Given the description of an element on the screen output the (x, y) to click on. 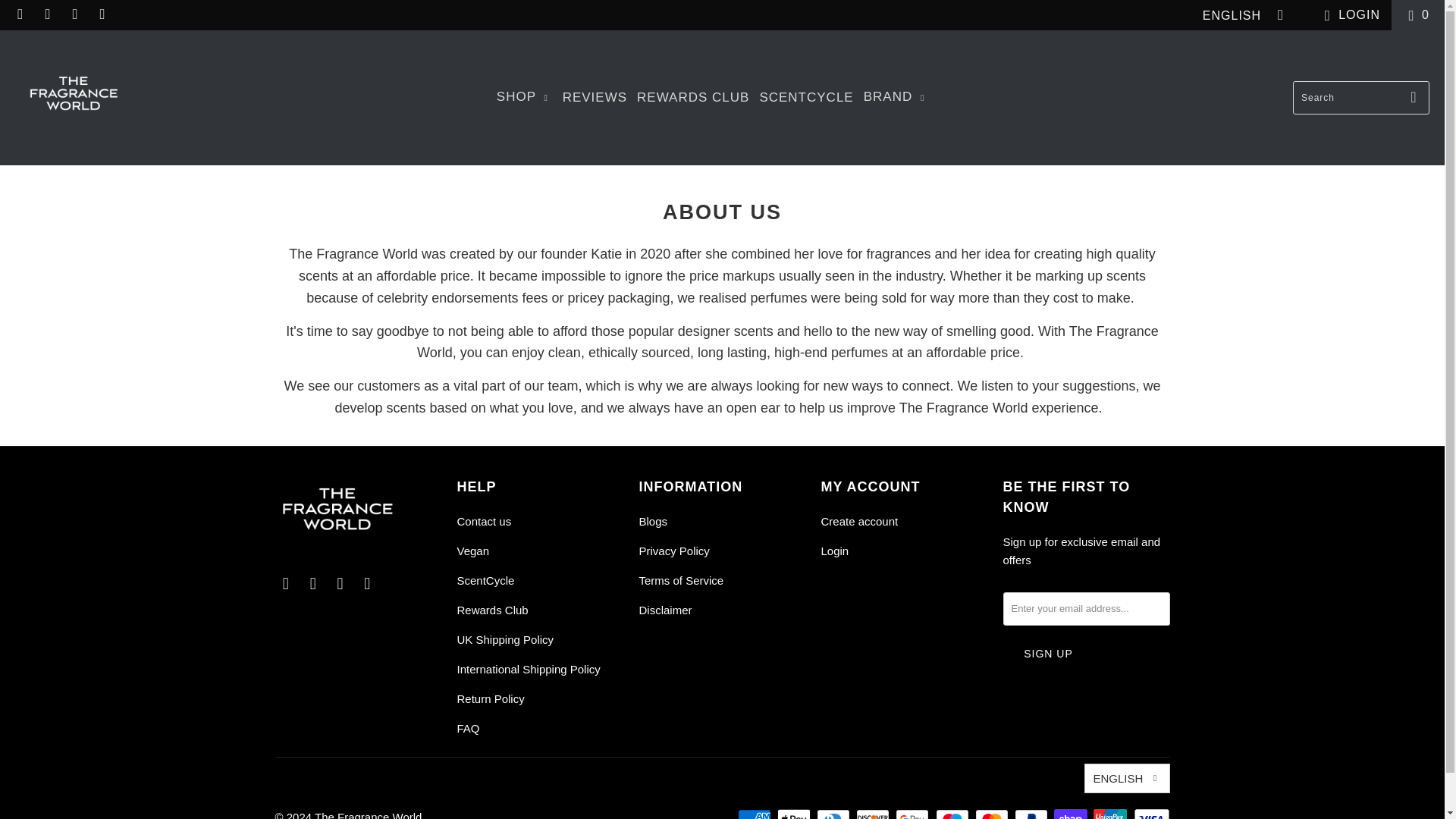
Email The Fragrance World (367, 583)
The Fragrance World on Instagram (47, 14)
The Fragrance World on Facebook (286, 583)
Google Pay (913, 813)
The Fragrance World on LinkedIn (73, 14)
Union Pay (1111, 813)
The Fragrance World on LinkedIn (340, 583)
Sign Up (1048, 653)
Email The Fragrance World (101, 14)
Diners Club (834, 813)
